Given the description of an element on the screen output the (x, y) to click on. 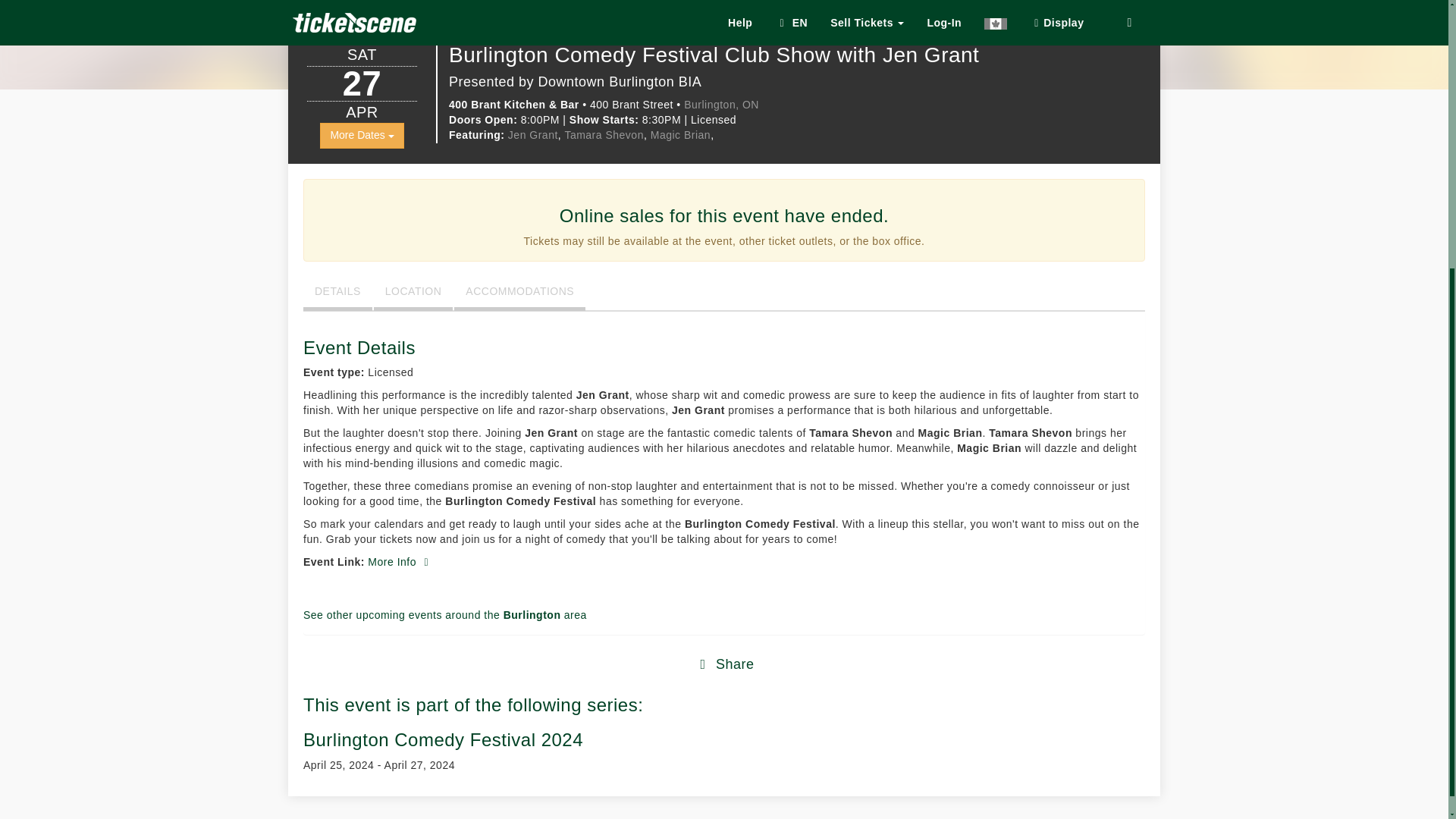
Tamara Shevon Events and Tour Dates (603, 134)
Tamara Shevon (603, 134)
Burlington Comedy Festival 2024 Tickets (442, 739)
Details (337, 293)
Magic Brian (680, 134)
Magic Brian Events and Tour Dates (680, 134)
Burlington Events (721, 104)
Jen Grant Events and Tour Dates (532, 134)
Jen Grant (532, 134)
Burlington, ON (721, 104)
